Given the description of an element on the screen output the (x, y) to click on. 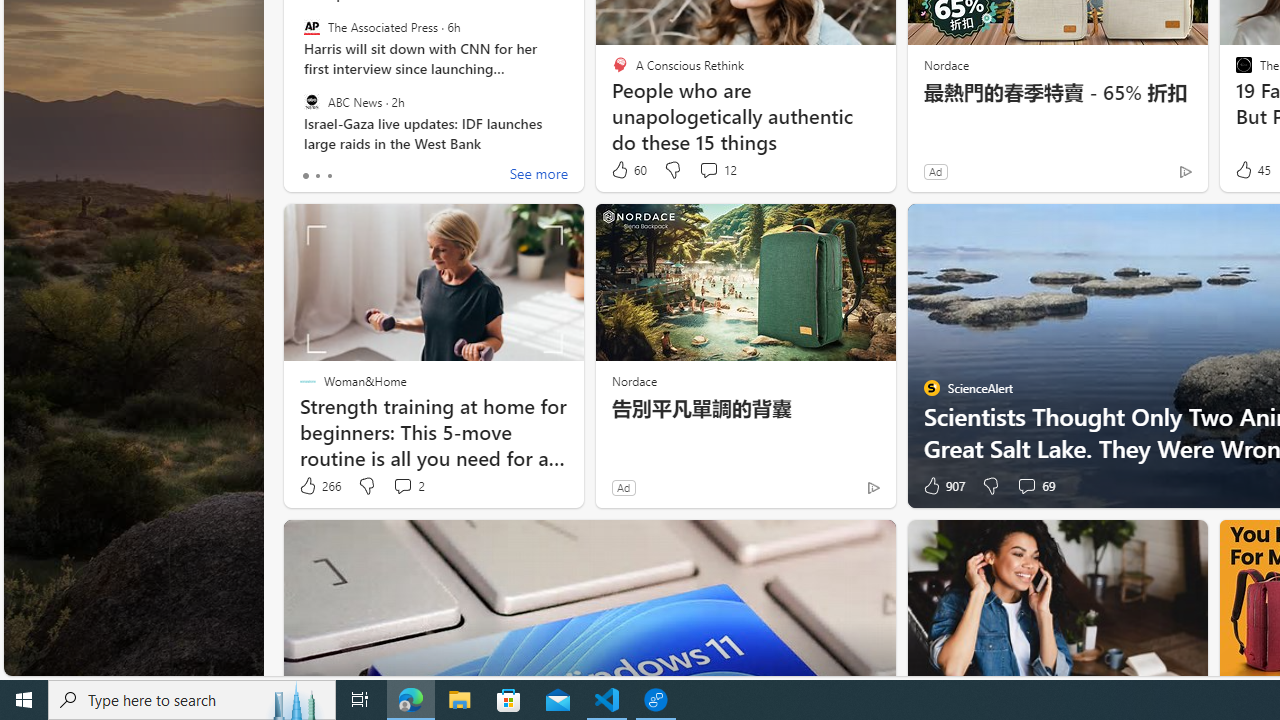
View comments 2 Comment (402, 485)
View comments 69 Comment (1035, 485)
tab-1 (317, 175)
tab-2 (328, 175)
ABC News (311, 101)
View comments 2 Comment (408, 485)
View comments 12 Comment (716, 170)
The Associated Press (311, 27)
45 Like (1251, 170)
tab-0 (305, 175)
